Given the description of an element on the screen output the (x, y) to click on. 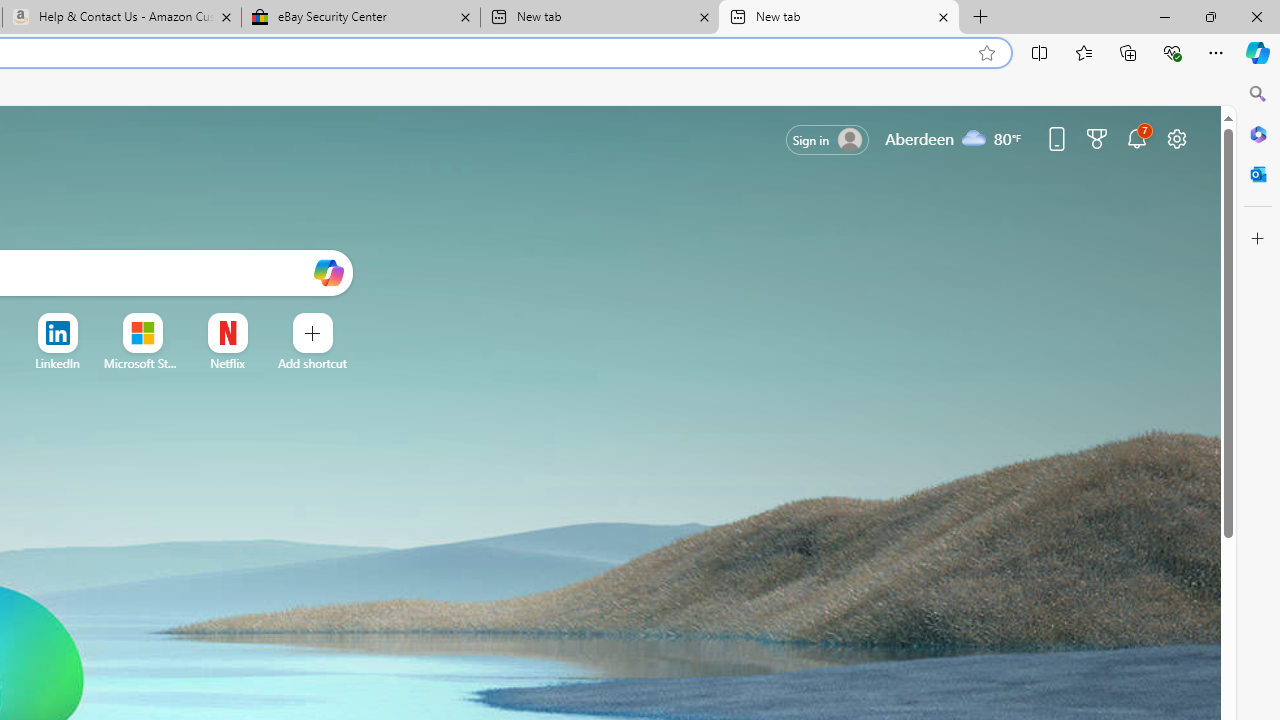
Cloudy (974, 137)
eBay Security Center (360, 17)
Page settings (1176, 138)
Add a site (311, 363)
